Given the description of an element on the screen output the (x, y) to click on. 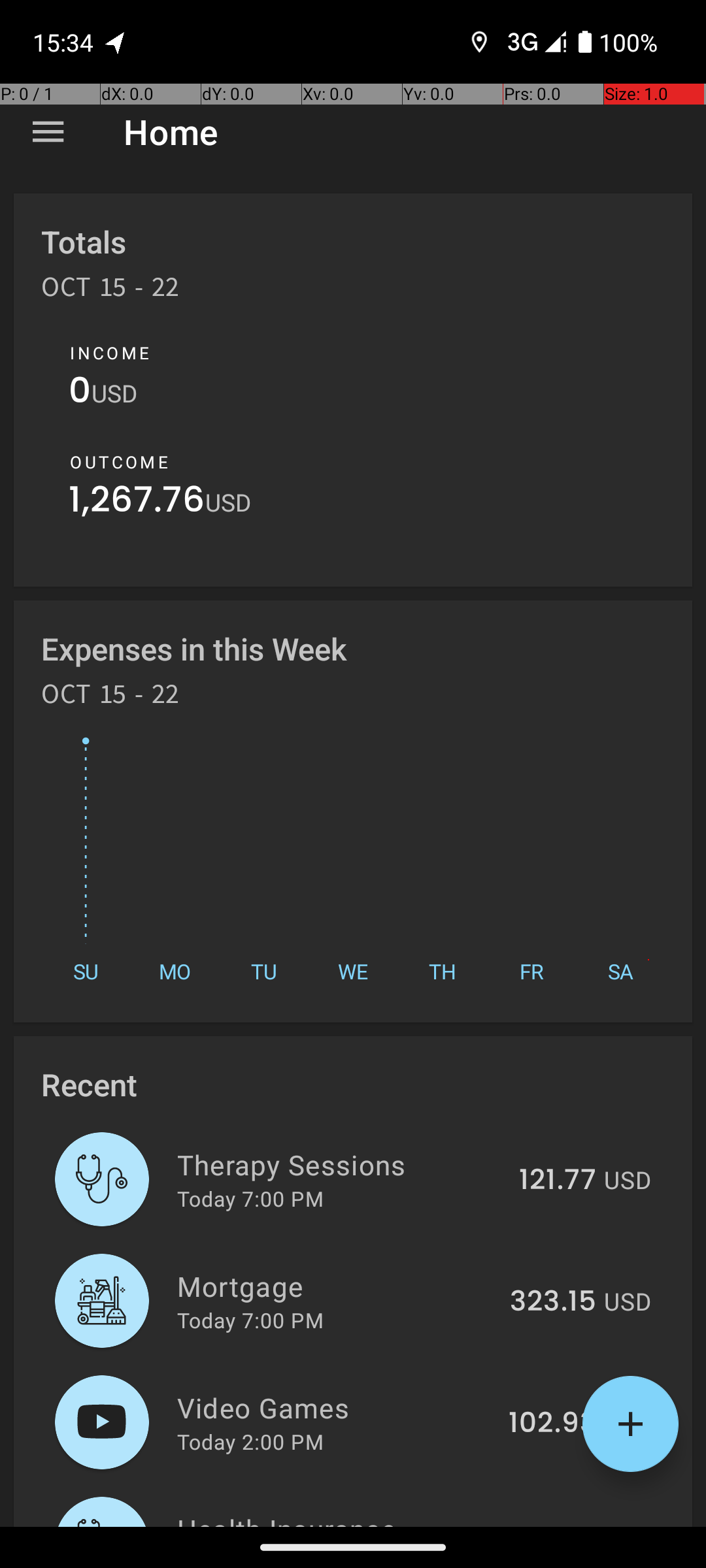
1,267.76 Element type: android.widget.TextView (136, 502)
Therapy Sessions Element type: android.widget.TextView (340, 1164)
Today 7:00 PM Element type: android.widget.TextView (250, 1198)
121.77 Element type: android.widget.TextView (557, 1180)
Mortgage Element type: android.widget.TextView (335, 1285)
323.15 Element type: android.widget.TextView (552, 1301)
Video Games Element type: android.widget.TextView (335, 1407)
Today 2:00 PM Element type: android.widget.TextView (250, 1441)
102.93 Element type: android.widget.TextView (551, 1423)
Health Insurance Element type: android.widget.TextView (340, 1518)
297.6 Element type: android.widget.TextView (557, 1524)
